Given the description of an element on the screen output the (x, y) to click on. 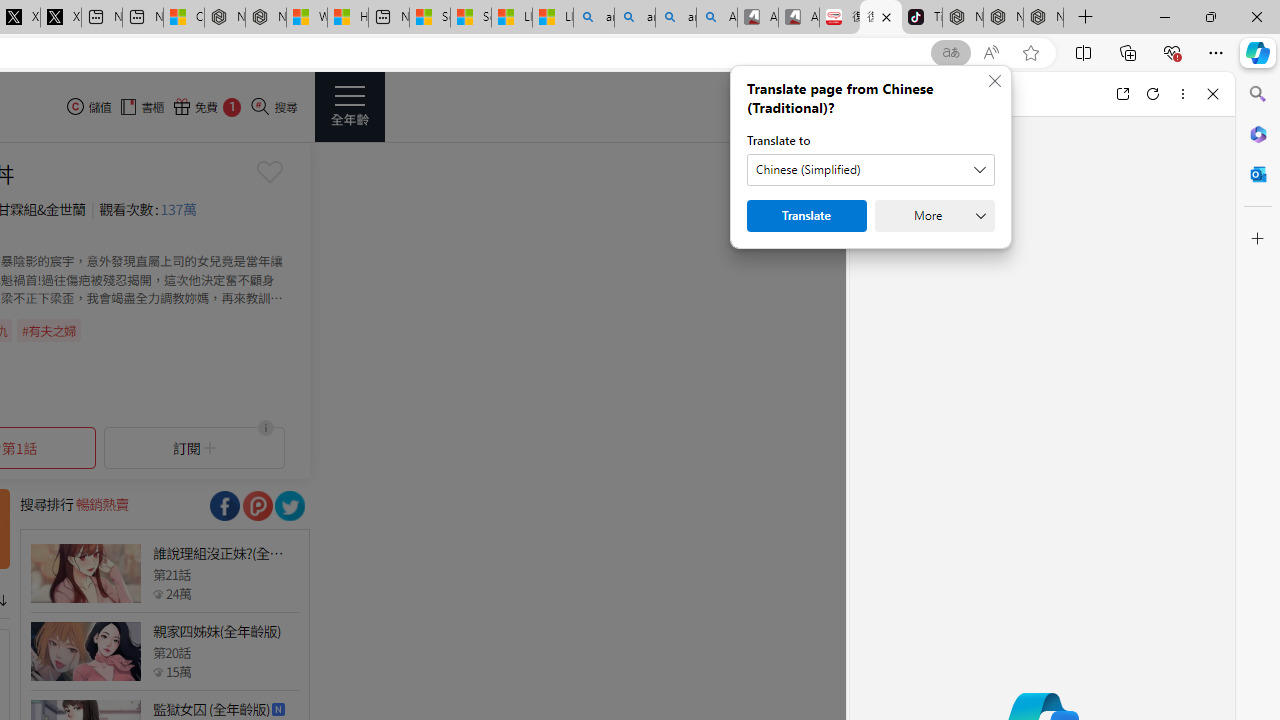
Microsoft 365 (1258, 133)
Chat (884, 93)
amazon - Search (634, 17)
Translate (806, 215)
